Given the description of an element on the screen output the (x, y) to click on. 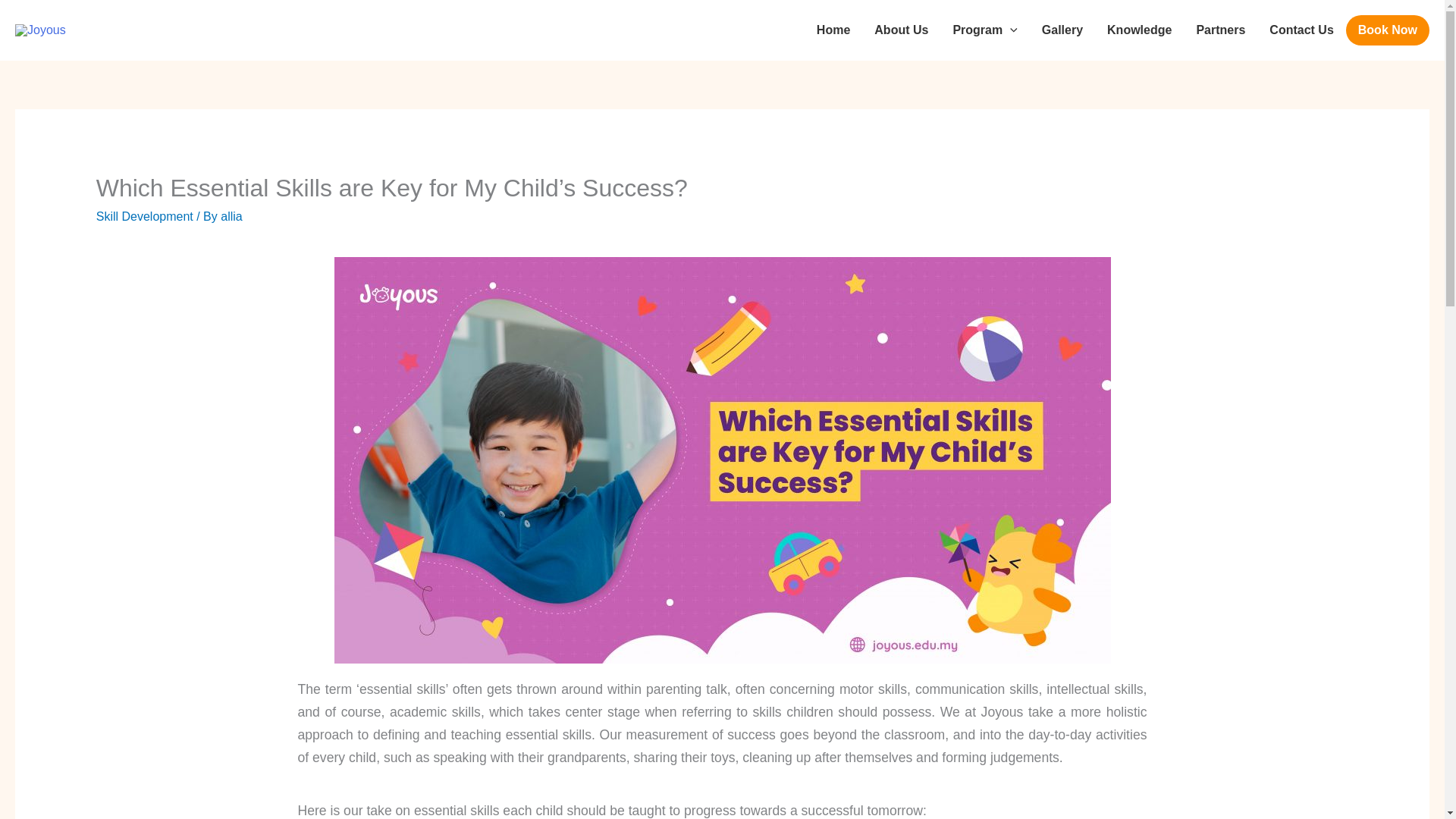
Home (833, 30)
View all posts by allia (231, 215)
Book Now (1387, 30)
Partners (1220, 30)
Gallery (1061, 30)
Program (984, 30)
About Us (900, 30)
Knowledge (1138, 30)
Contact Us (1301, 30)
